Given the description of an element on the screen output the (x, y) to click on. 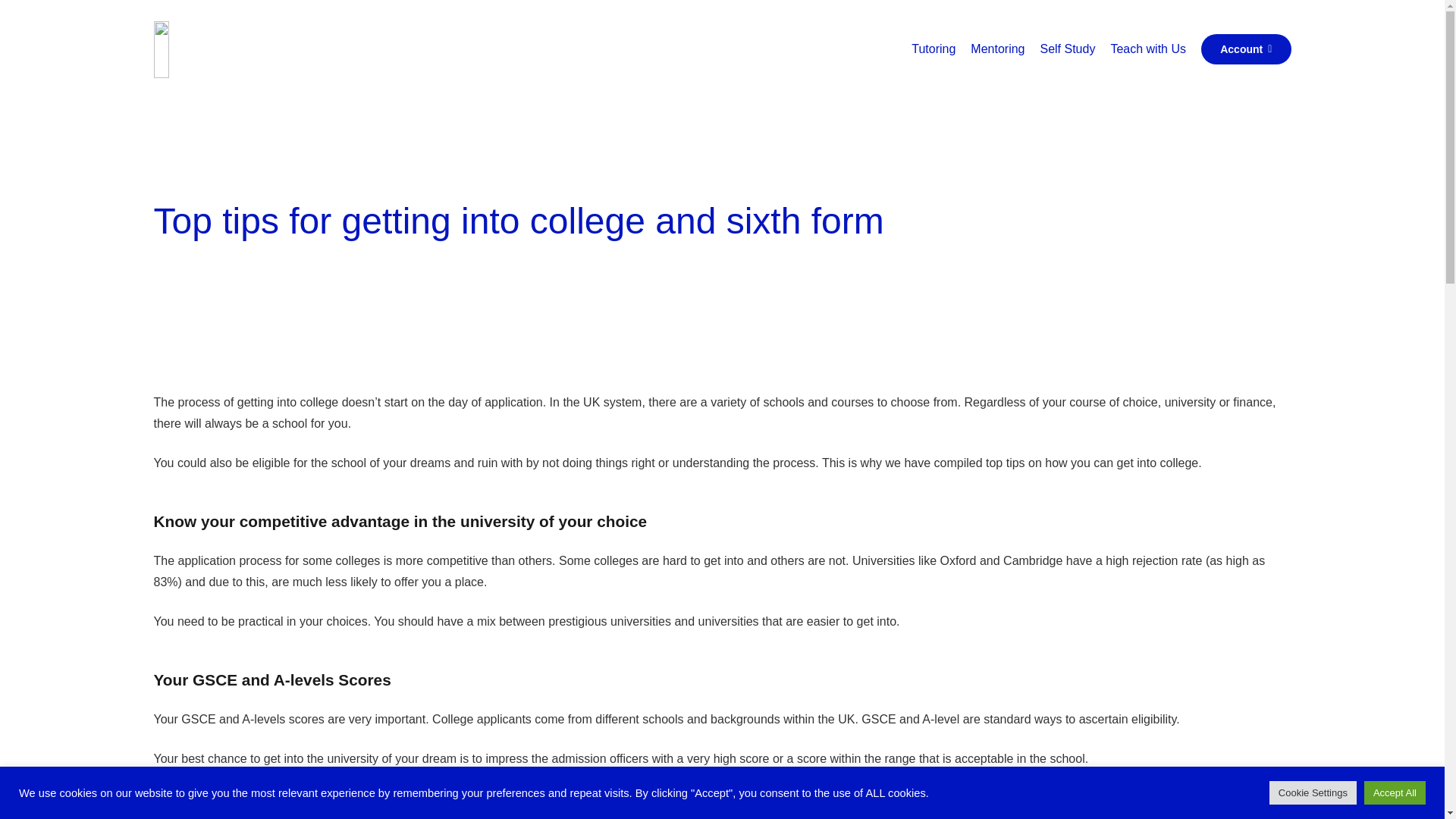
Self Study (1067, 48)
Home (890, 57)
Mentoring (997, 48)
Account (1246, 48)
Teach with Us (1147, 48)
Tutoring (933, 48)
